Given the description of an element on the screen output the (x, y) to click on. 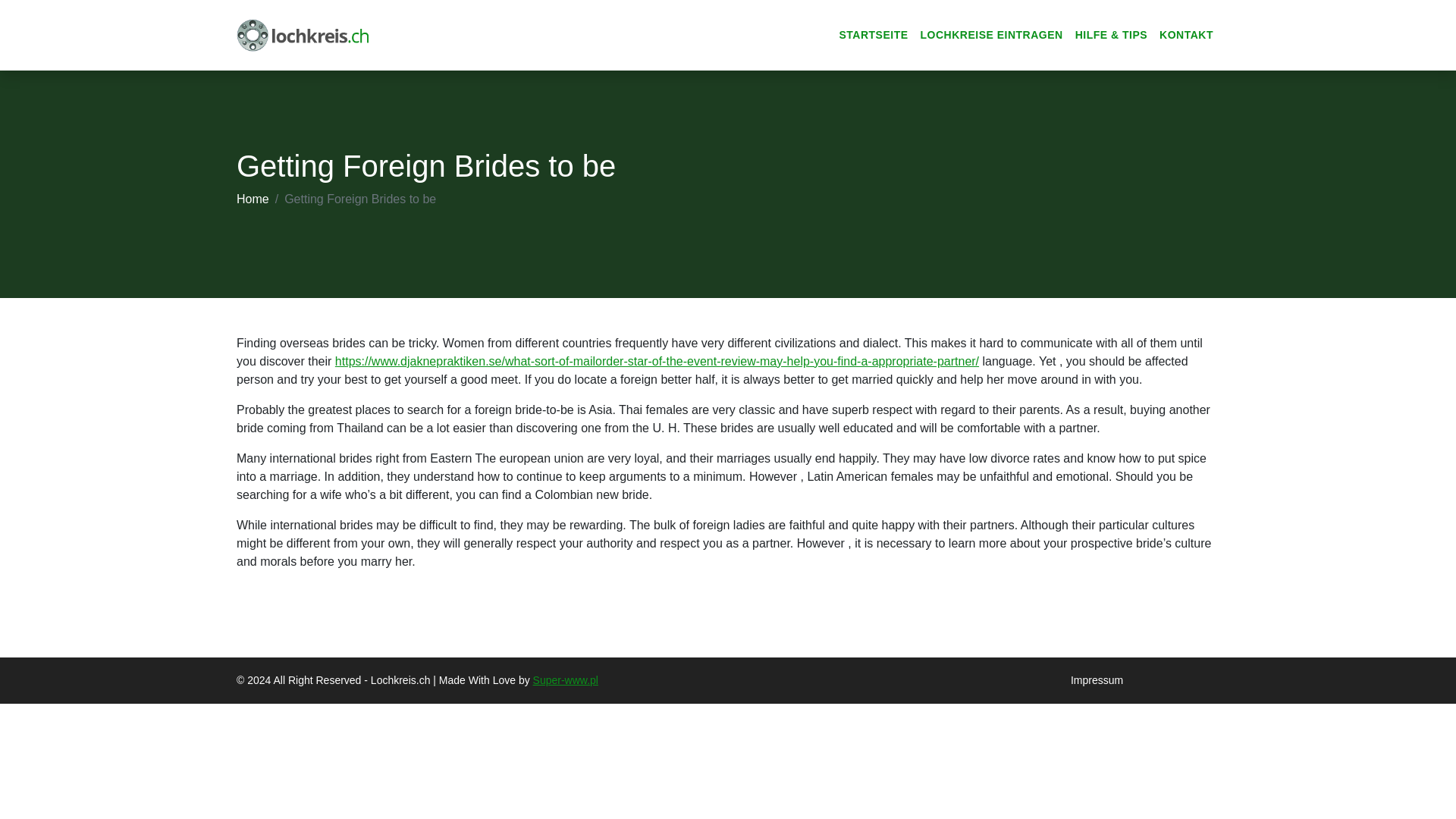
Home (252, 198)
Impressum (1096, 680)
KONTAKT (1186, 35)
Super-www.pl (565, 680)
LOCHKREISE EINTRAGEN (991, 35)
STARTSEITE (873, 35)
